Given the description of an element on the screen output the (x, y) to click on. 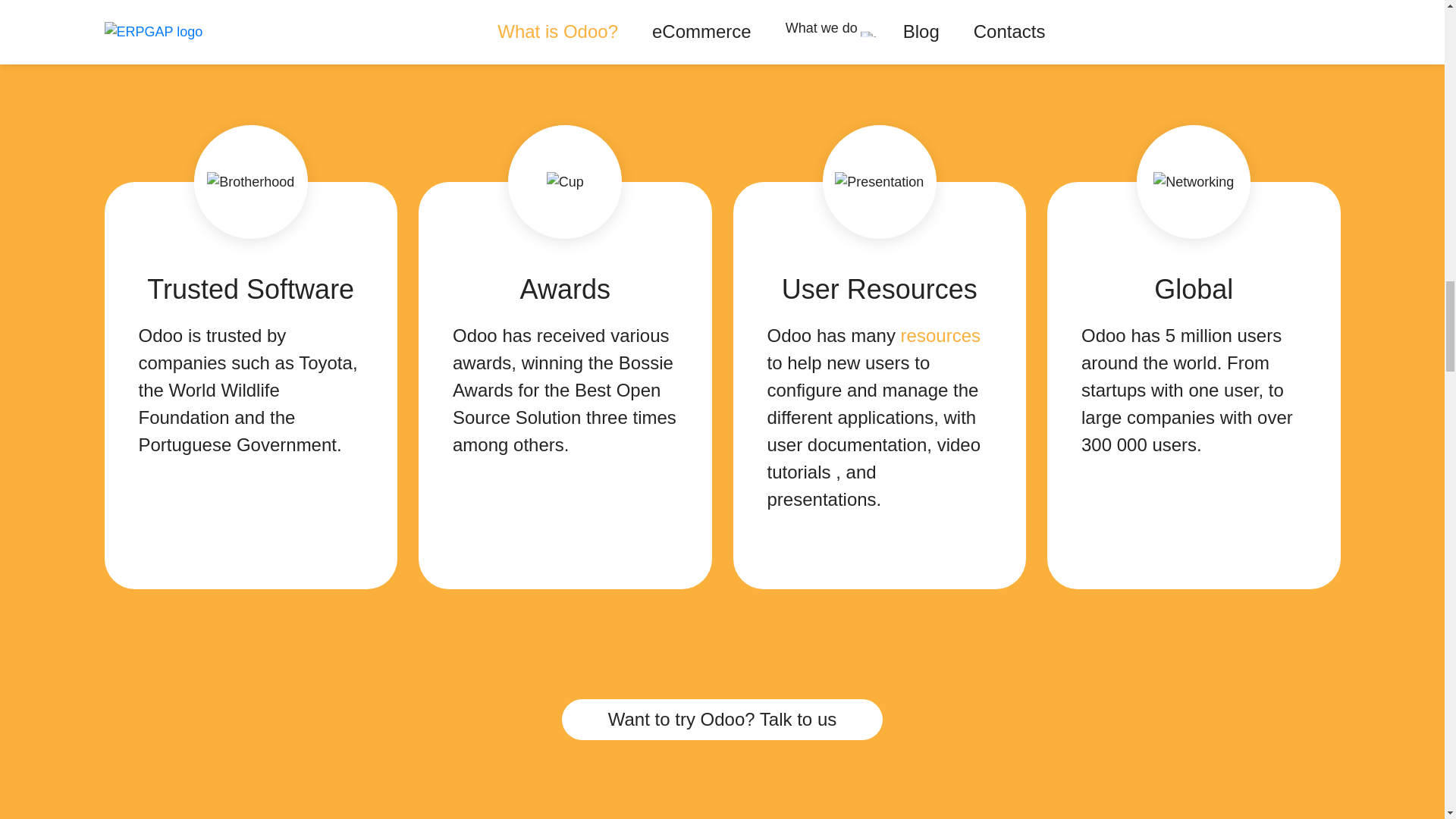
resources (940, 335)
Want to try Odoo? Talk to us (722, 719)
